Given the description of an element on the screen output the (x, y) to click on. 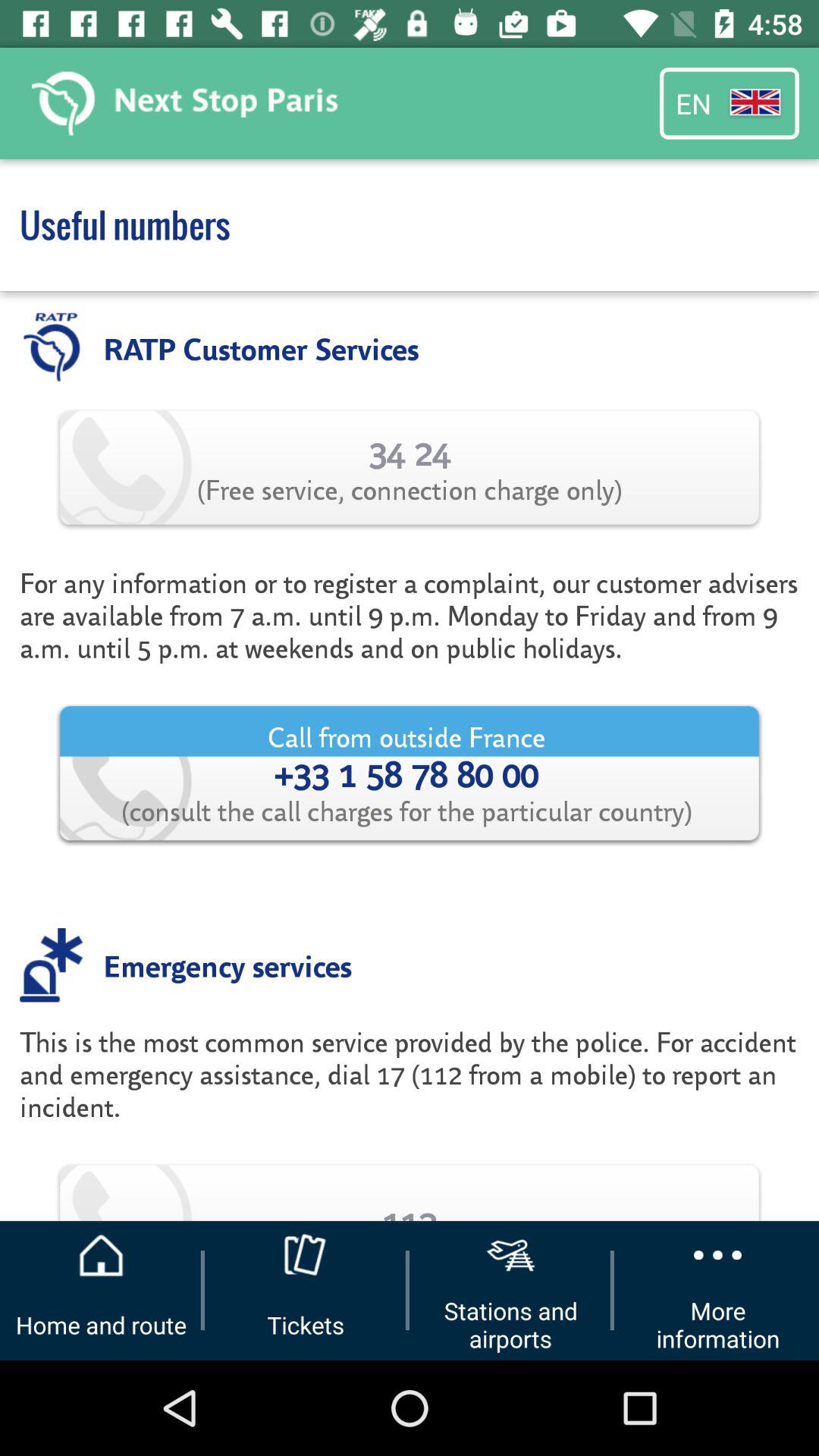
jump to ratp customer services item (261, 347)
